Given the description of an element on the screen output the (x, y) to click on. 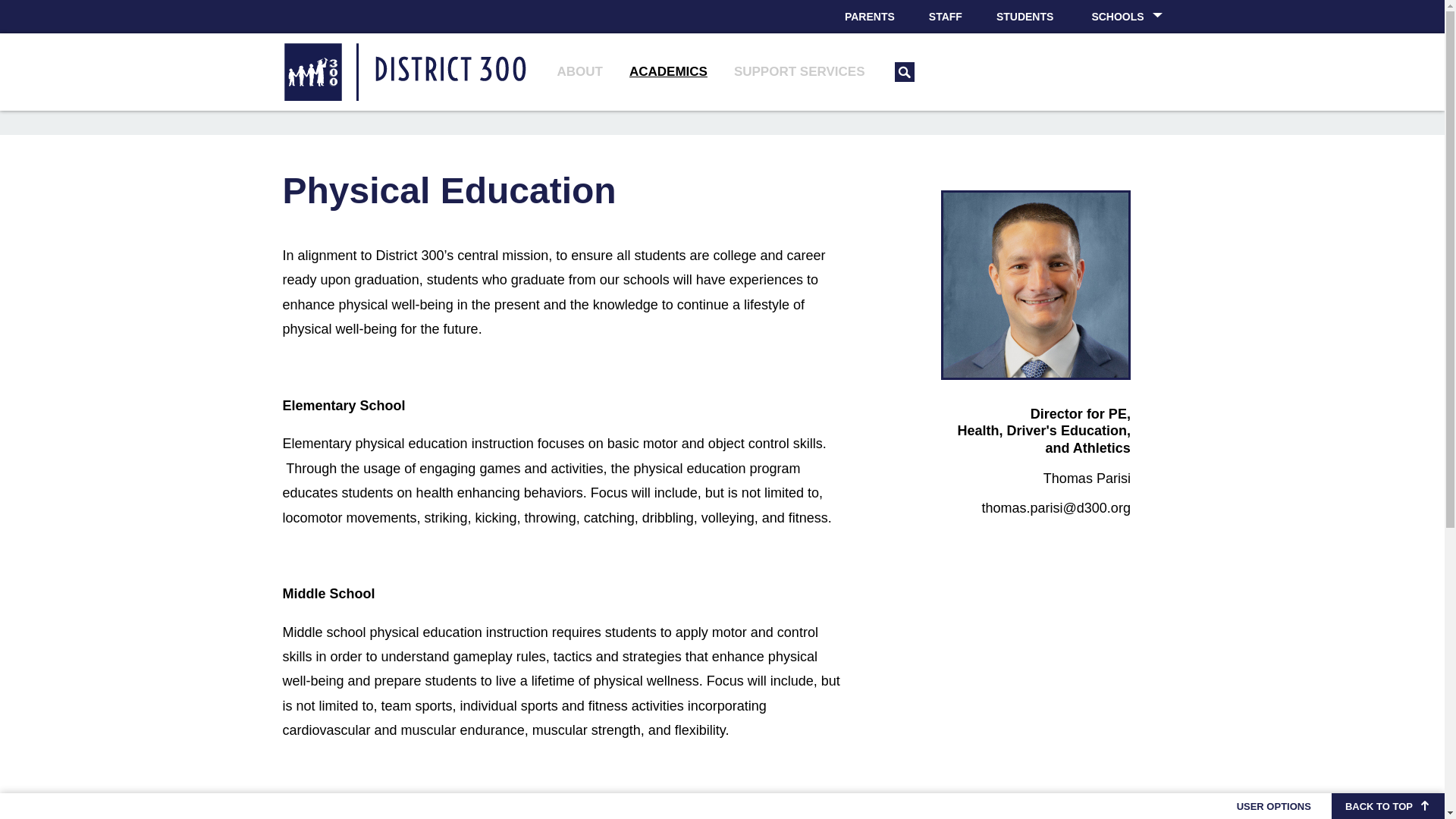
Thomas Parisi (1035, 285)
SCHOOLS (1125, 16)
Community Unit School District 300 (411, 71)
PARENTS (869, 16)
STUDENTS (1024, 16)
STAFF (945, 16)
